Given the description of an element on the screen output the (x, y) to click on. 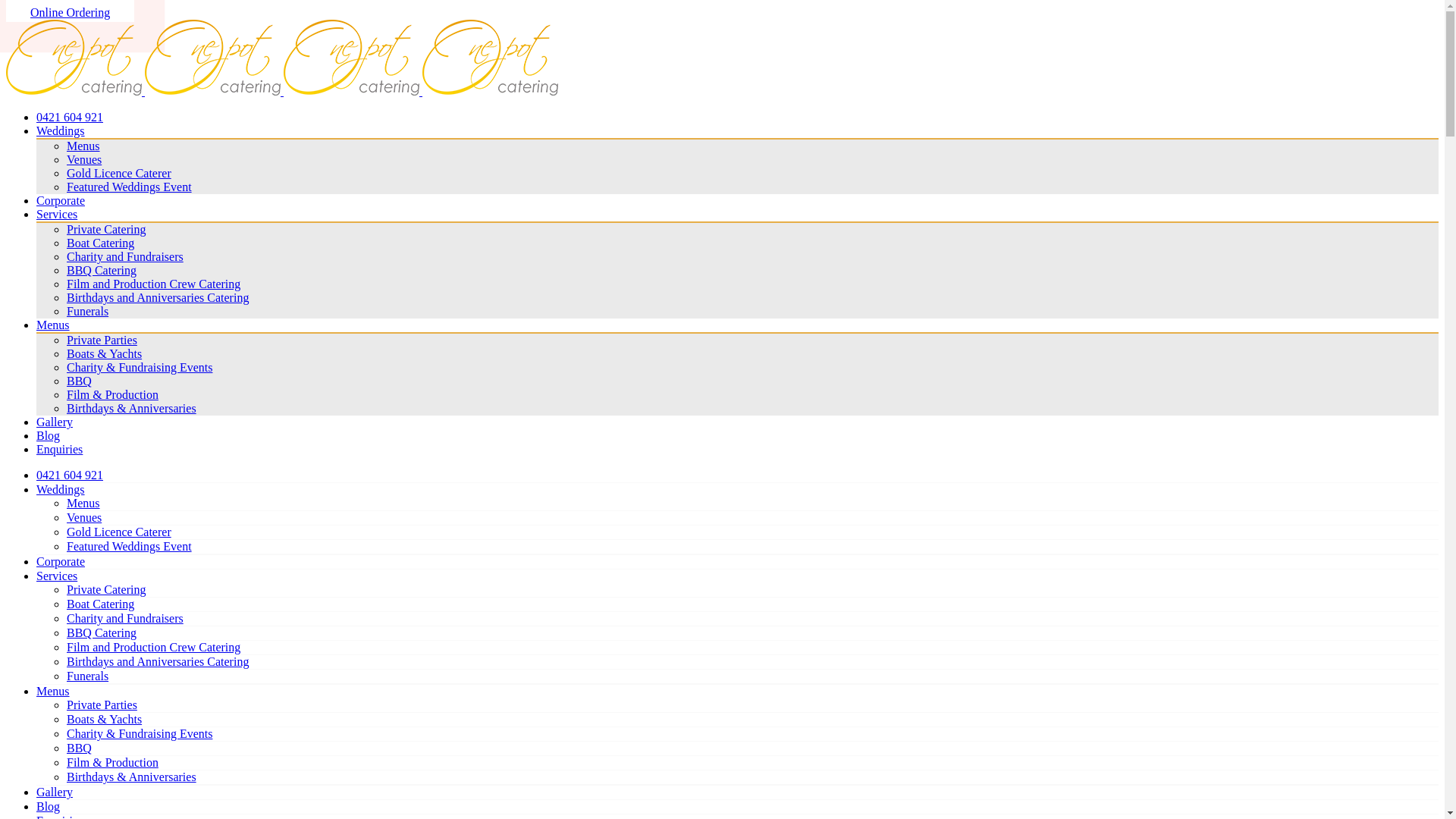
BBQ Element type: text (78, 747)
Menus Element type: text (83, 502)
Services Element type: text (56, 575)
Funerals Element type: text (87, 310)
Film and Production Crew Catering Element type: text (153, 283)
Featured Weddings Event Element type: text (128, 546)
0421 604 921 Element type: text (69, 116)
Funerals Element type: text (87, 675)
Gold Licence Caterer Element type: text (118, 172)
Boat Catering Element type: text (100, 603)
Charity & Fundraising Events Element type: text (139, 366)
Film & Production Element type: text (112, 762)
Charity & Fundraising Events Element type: text (139, 733)
Charity and Fundraisers Element type: text (124, 618)
Gallery Element type: text (54, 421)
Enquiries Element type: text (59, 448)
Birthdays & Anniversaries Element type: text (131, 776)
Birthdays and Anniversaries Catering Element type: text (157, 297)
Boats & Yachts Element type: text (103, 353)
Featured Weddings Event Element type: text (128, 186)
Venues Element type: text (83, 159)
Menus Element type: text (52, 691)
Gold Licence Caterer Element type: text (118, 531)
Weddings Element type: text (60, 130)
0421 604 921 Element type: text (69, 474)
Services Element type: text (56, 213)
Online Ordering Element type: text (70, 10)
BBQ Catering Element type: text (101, 632)
BBQ Element type: text (78, 380)
Charity and Fundraisers Element type: text (124, 256)
Menus Element type: text (83, 145)
Private Catering Element type: text (105, 228)
Corporate Element type: text (60, 200)
Birthdays and Anniversaries Catering Element type: text (157, 661)
Blog Element type: text (47, 435)
Private Parties Element type: text (101, 339)
Film & Production Element type: text (112, 394)
Menus Element type: text (52, 324)
Corporate Element type: text (60, 561)
BBQ Catering Element type: text (101, 269)
Birthdays & Anniversaries Element type: text (131, 407)
Private Catering Element type: text (105, 589)
Weddings Element type: text (60, 489)
Venues Element type: text (83, 517)
Boat Catering Element type: text (100, 242)
Film and Production Crew Catering Element type: text (153, 647)
Private Parties Element type: text (101, 704)
Gallery Element type: text (54, 791)
Boats & Yachts Element type: text (103, 719)
